Given the description of an element on the screen output the (x, y) to click on. 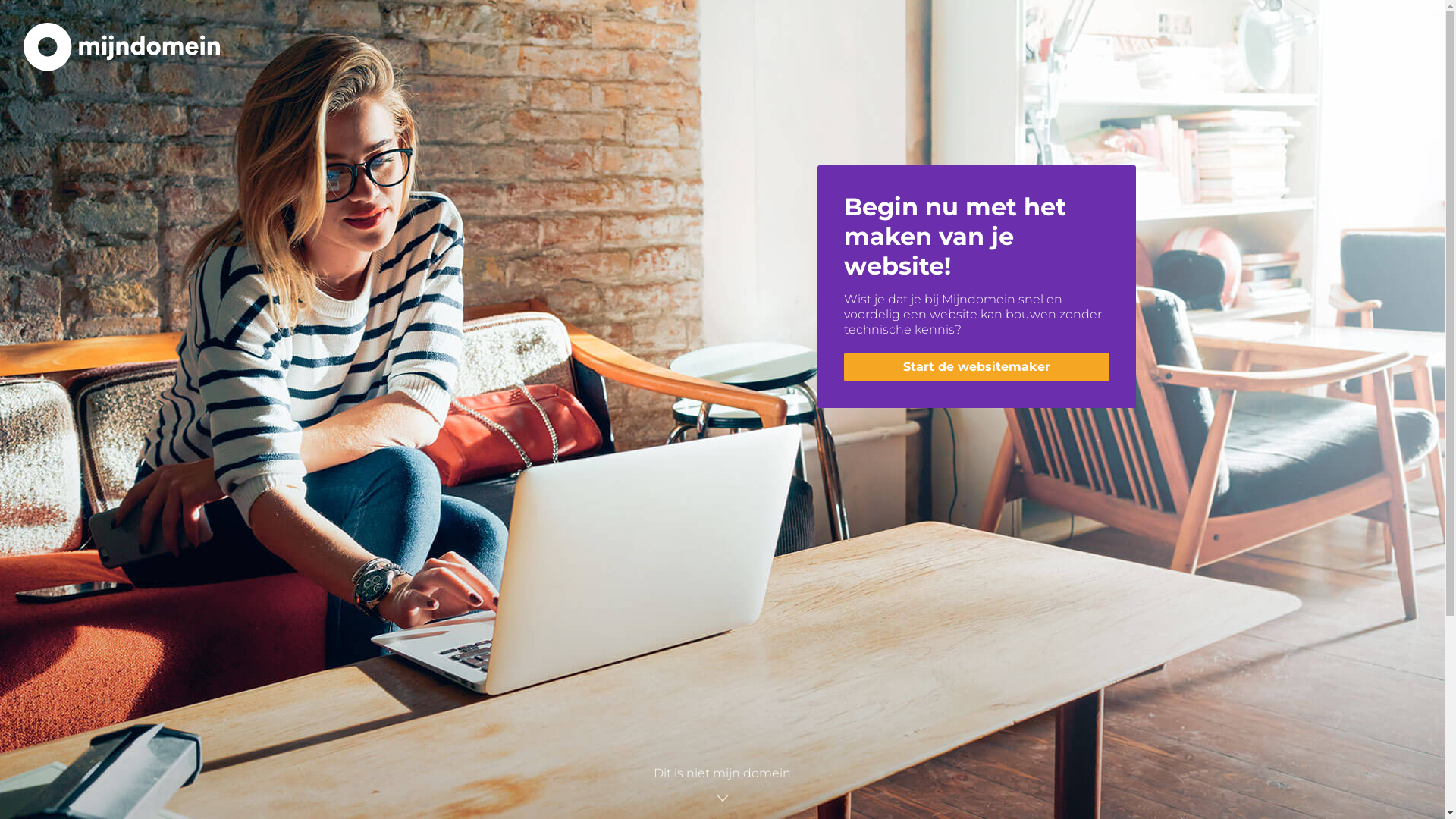
Start de websitemaker Element type: text (975, 366)
Dit is niet mijn domein Element type: text (721, 784)
